Given the description of an element on the screen output the (x, y) to click on. 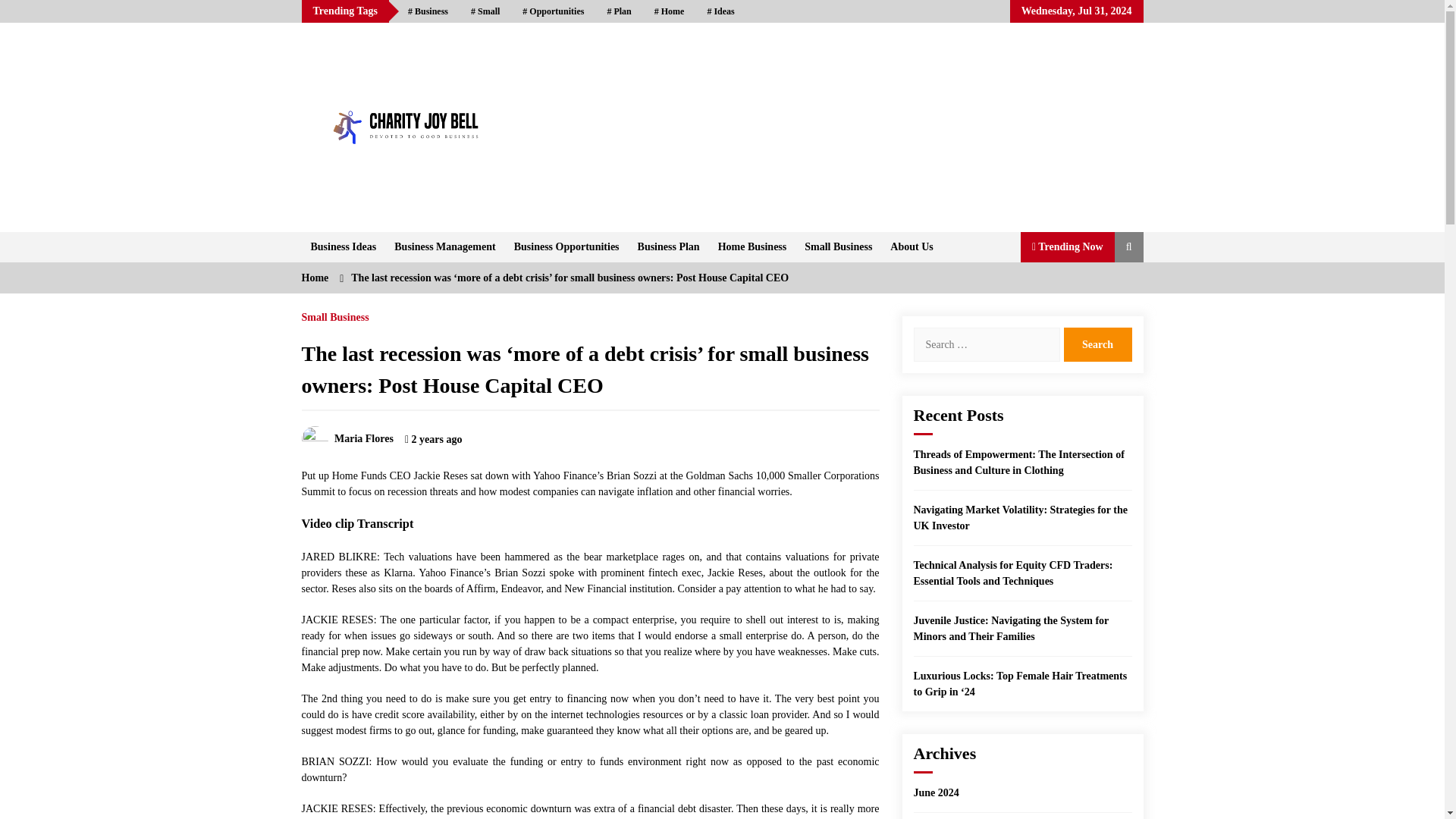
Business Plan (668, 246)
Home (669, 11)
Opportunities (553, 11)
Business Opportunities (566, 246)
Home Business (752, 246)
About Us (911, 246)
Business Ideas (343, 246)
Small Business (837, 246)
Ideas (720, 11)
Search (1096, 344)
Small (485, 11)
Search (1096, 344)
Business Management (444, 246)
Business (428, 11)
Plan (618, 11)
